Given the description of an element on the screen output the (x, y) to click on. 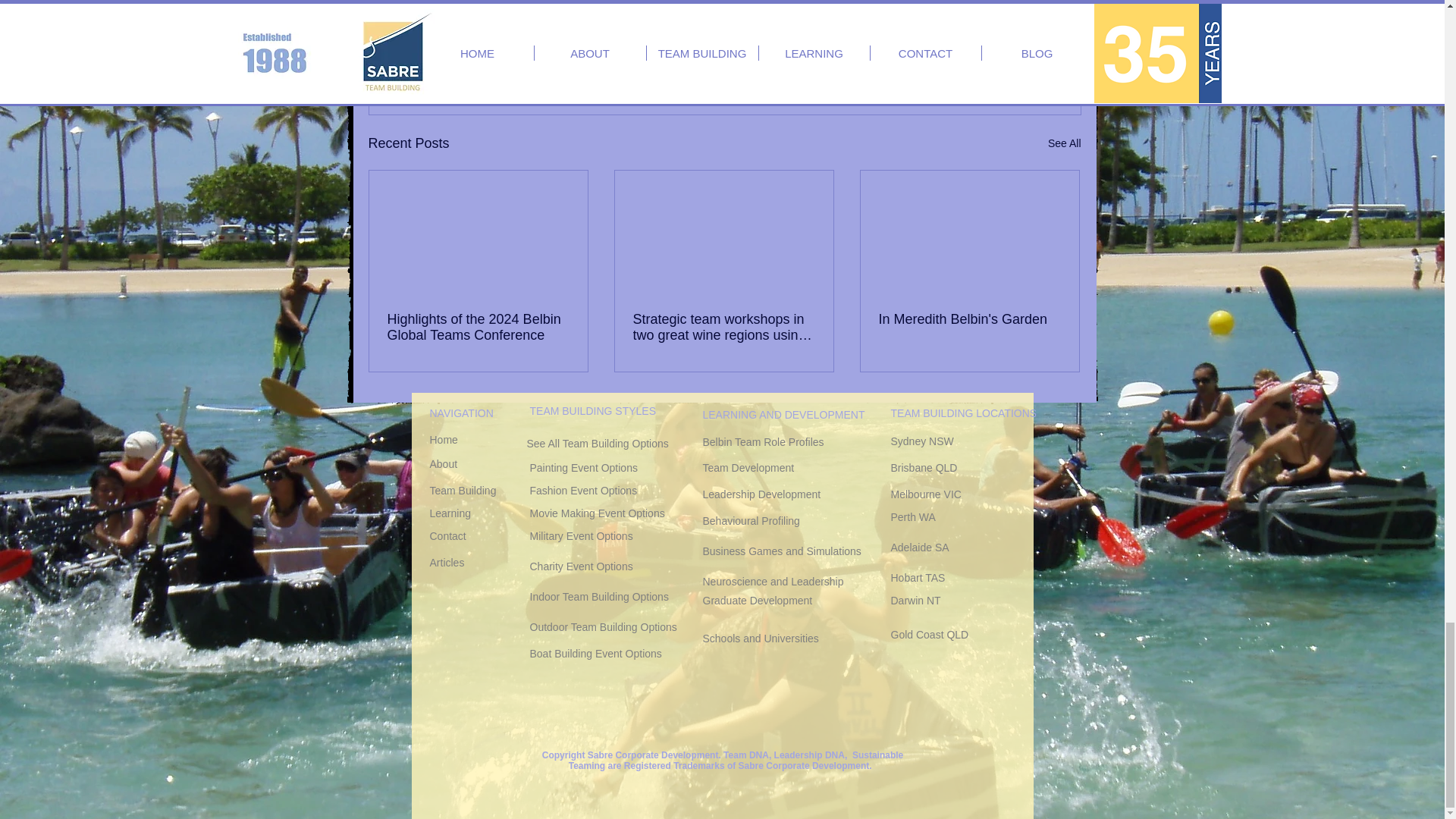
See All (1064, 143)
